Given the description of an element on the screen output the (x, y) to click on. 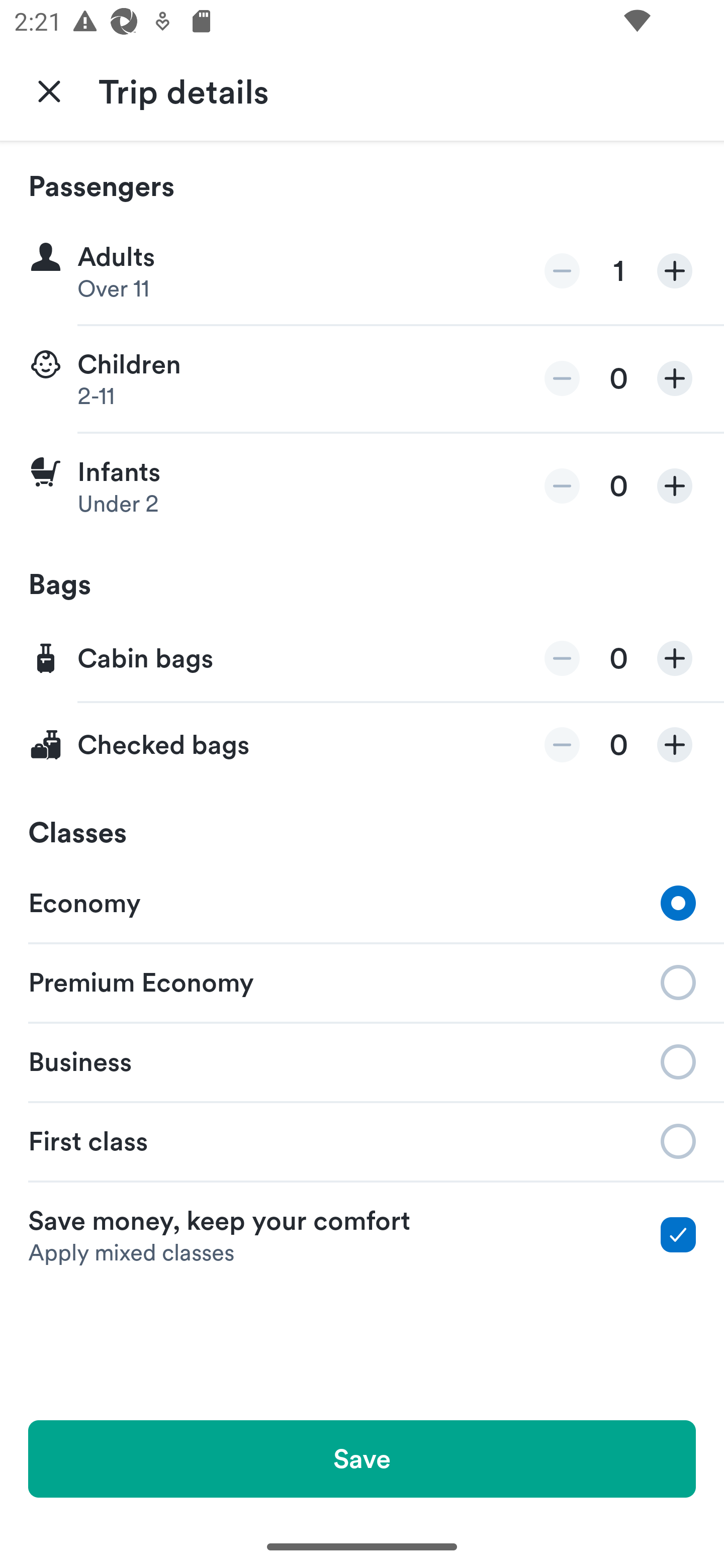
Navigate up (49, 90)
Remove 1 Add Adults Over 11 (362, 271)
Remove (561, 270)
Add (674, 270)
Remove 0 Add Children 2-11 (362, 379)
Remove (561, 377)
Add (674, 377)
Remove 0 Add Infants Under 2 (362, 485)
Remove (561, 485)
Add (674, 485)
Remove 0 Add Cabin bags (362, 659)
Remove (561, 658)
Add (674, 658)
Remove 0 Add Checked bags (362, 744)
Remove (561, 744)
Add (674, 744)
Premium Economy (362, 980)
Business (362, 1060)
First class (362, 1141)
Save (361, 1458)
